Given the description of an element on the screen output the (x, y) to click on. 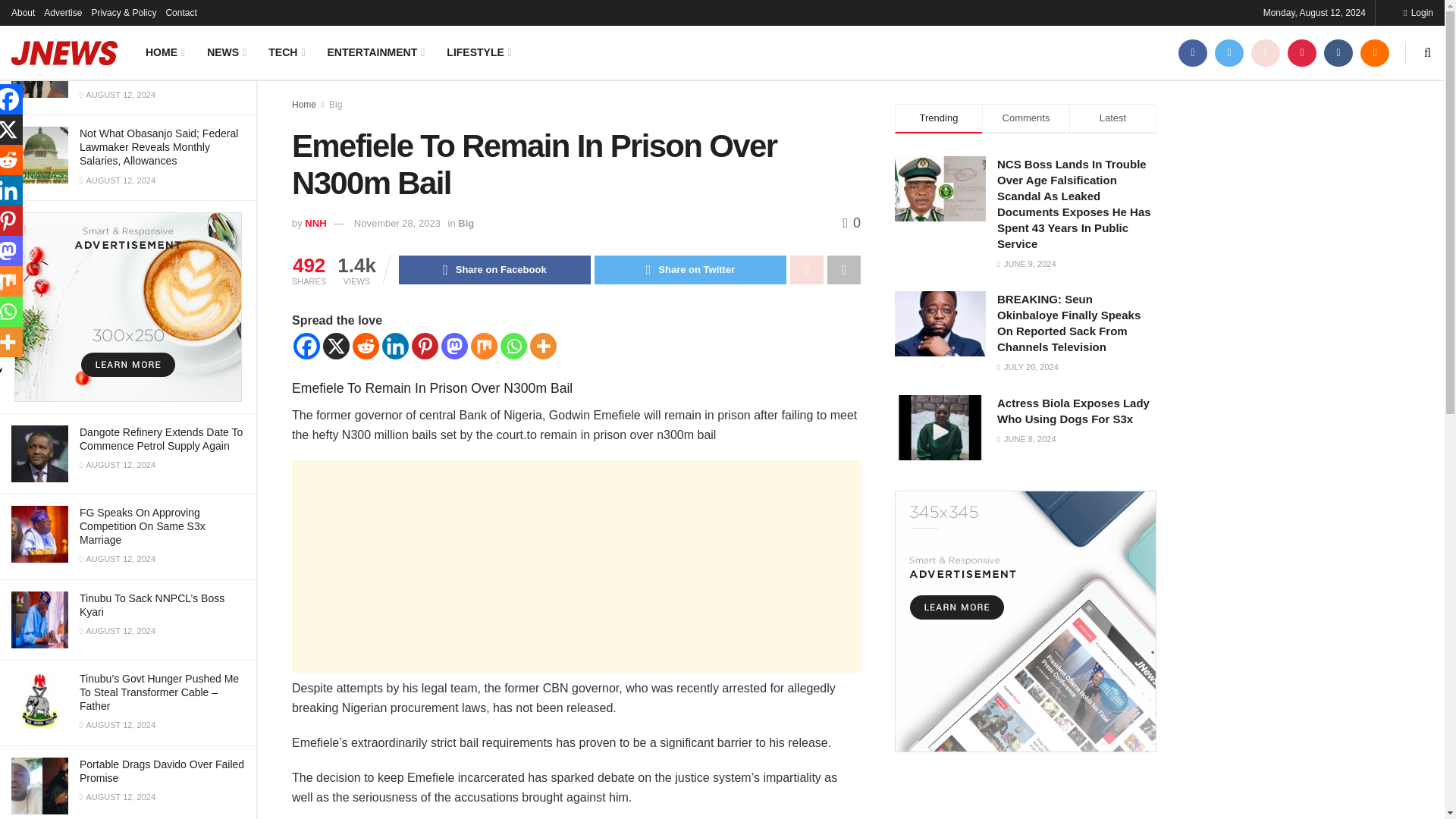
Linkedin (395, 345)
About (22, 12)
Advertise (62, 12)
FG Speaks On Approving Competition On Same S3x Marriage (142, 526)
Pinterest (425, 345)
Mastodon (454, 345)
X (336, 345)
More (542, 345)
